Given the description of an element on the screen output the (x, y) to click on. 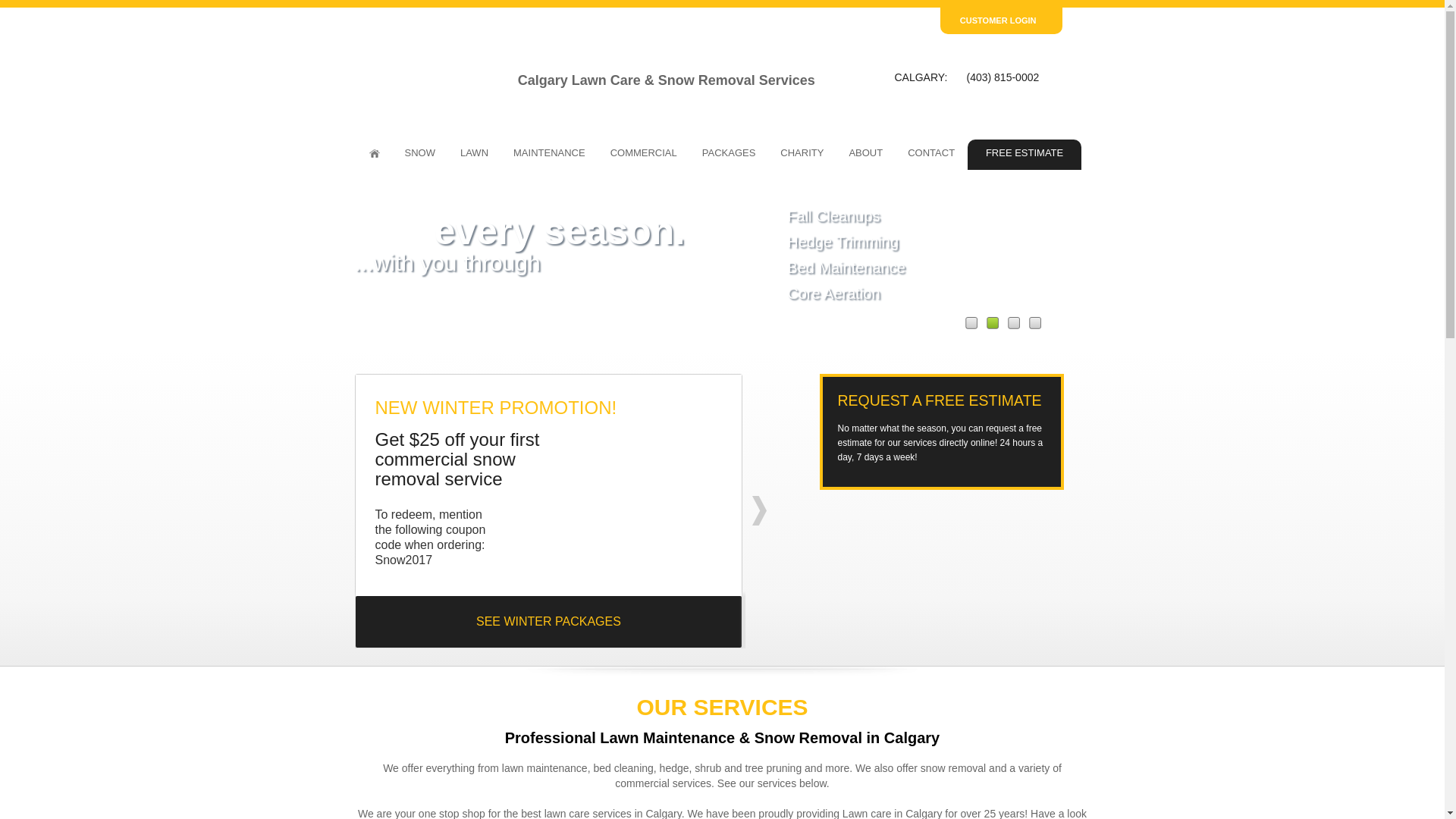
Armyworx Element type: text (432, 74)
FREE ESTIMATE Element type: text (1024, 154)
3 Element type: text (1013, 322)
2 Element type: text (991, 322)
PACKAGES Element type: text (728, 154)
Fall Cleanups Element type: text (832, 217)
MAINTENANCE Element type: text (549, 154)
SNOW Element type: text (419, 154)
COMMERCIAL Element type: text (643, 154)
HOME PAGE Element type: text (373, 154)
1 Element type: text (970, 322)
Next Element type: text (759, 510)
LAWN Element type: text (473, 154)
SEE WINTER PACKAGES Element type: text (547, 621)
Core Aeration Element type: text (832, 295)
CONTACT Element type: text (931, 154)
4 Element type: text (1034, 322)
CHARITY Element type: text (801, 154)
CUSTOMER LOGIN Element type: text (1001, 20)
ABOUT Element type: text (865, 154)
